Given the description of an element on the screen output the (x, y) to click on. 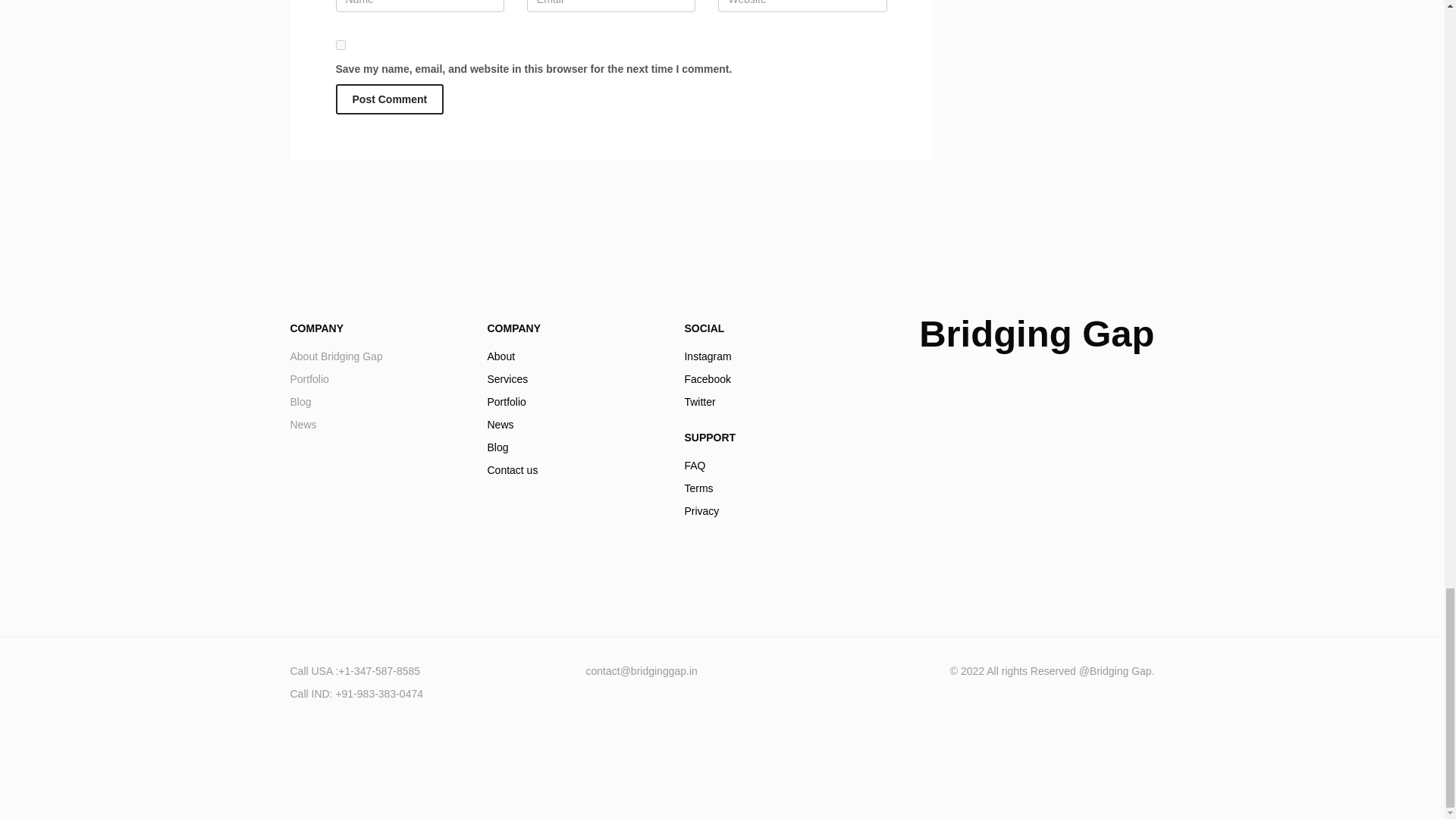
Post Comment (376, 389)
yes (389, 99)
